Given the description of an element on the screen output the (x, y) to click on. 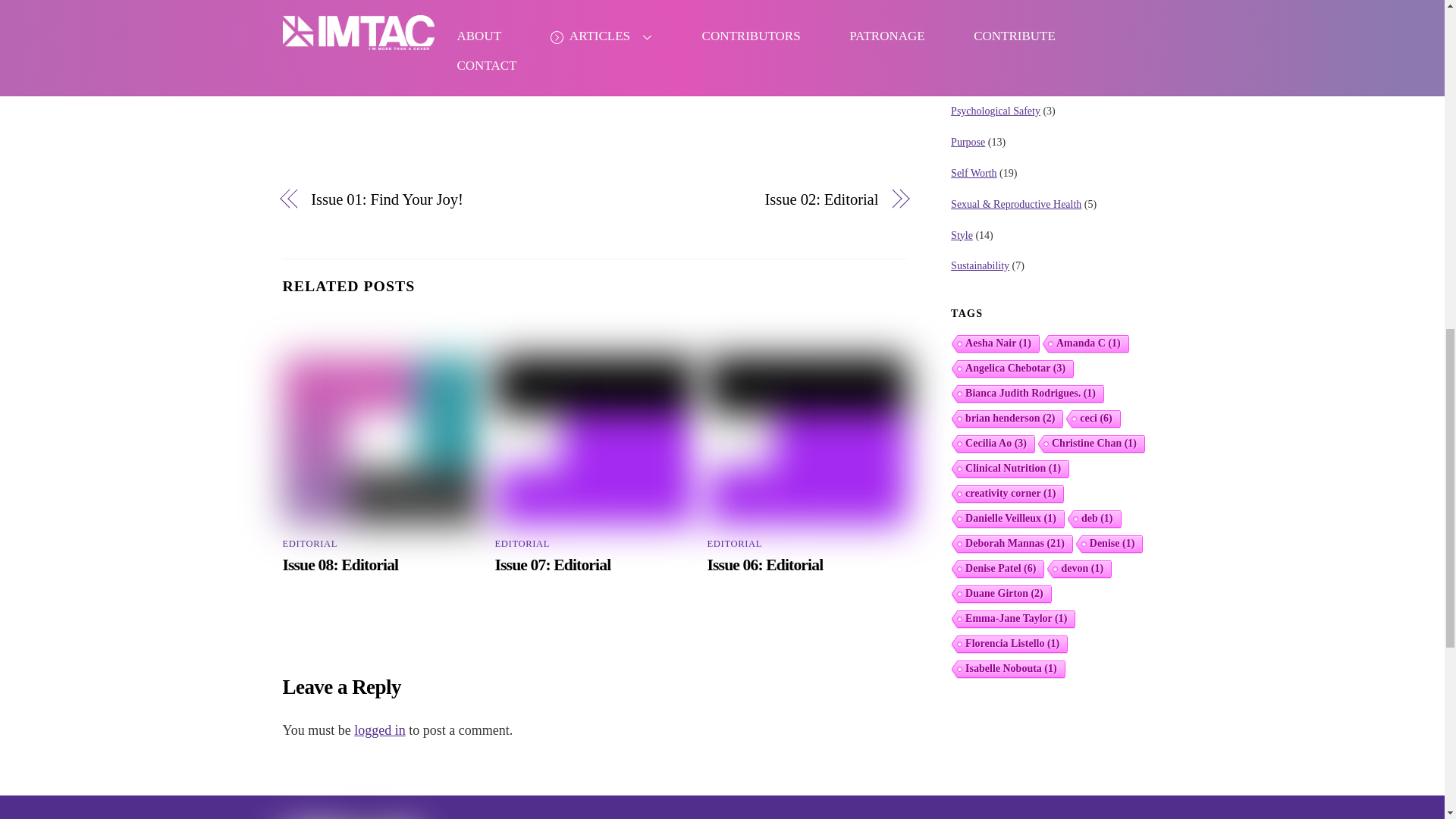
Issue 06: Editorial (765, 565)
Issue 01: Find Your Joy! (443, 200)
EDITORIAL (309, 543)
EDITORIAL (522, 543)
EDITORIAL (734, 543)
Issue 02: Editorial (744, 200)
Issue 07: Editorial (553, 565)
editorial-cover (595, 440)
editorial-cover (807, 440)
Issue 08: Editorial (339, 565)
logged in (379, 729)
